Given the description of an element on the screen output the (x, y) to click on. 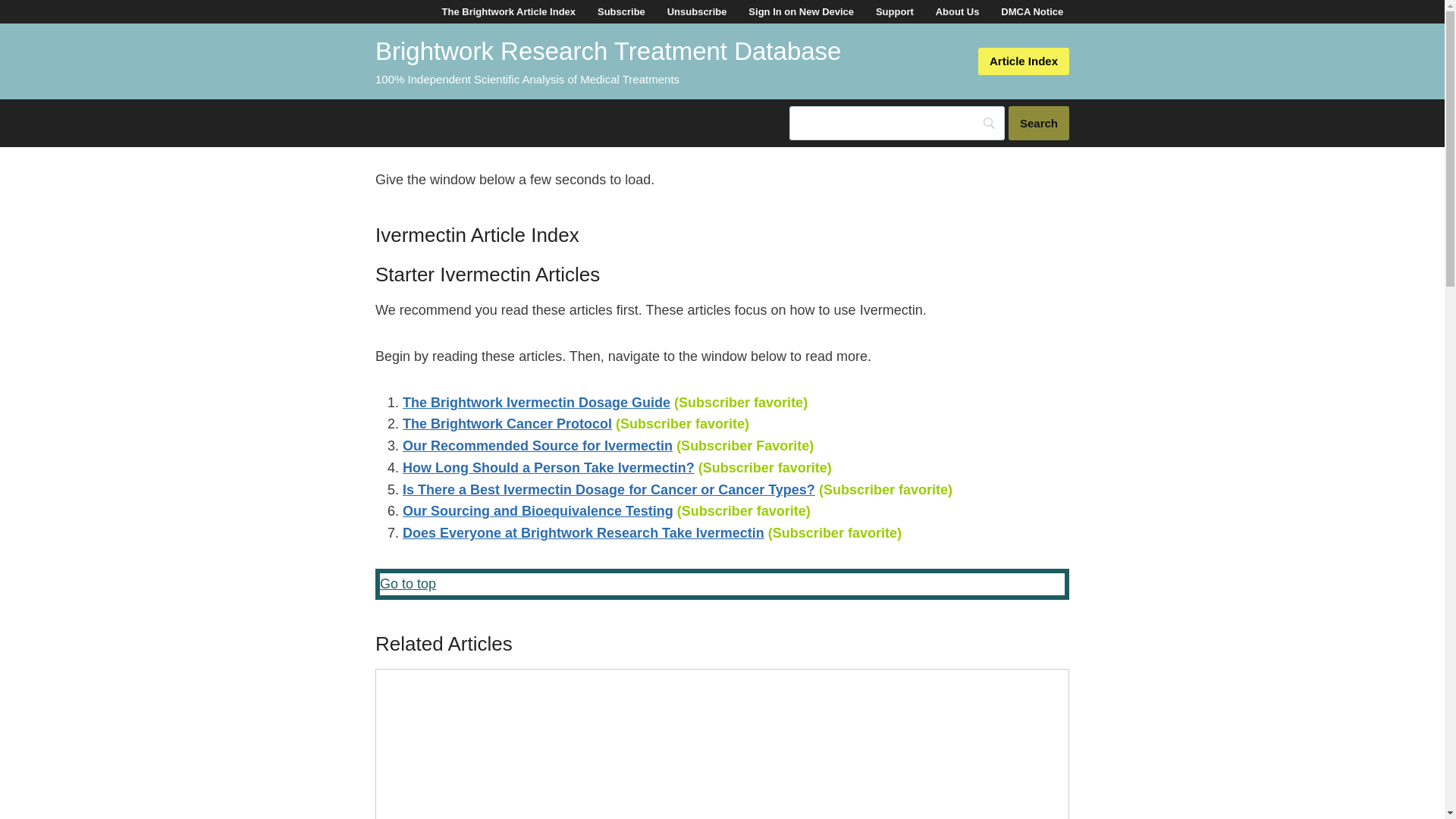
Search (1038, 123)
About Us (957, 11)
DMCA Notice (1031, 11)
Article Index (1023, 61)
Support (893, 11)
The Brightwork Article Index (507, 11)
Sign In on New Device (801, 11)
Our Recommended Source for Ivermectin (537, 445)
Unsubscribe (696, 11)
